Given the description of an element on the screen output the (x, y) to click on. 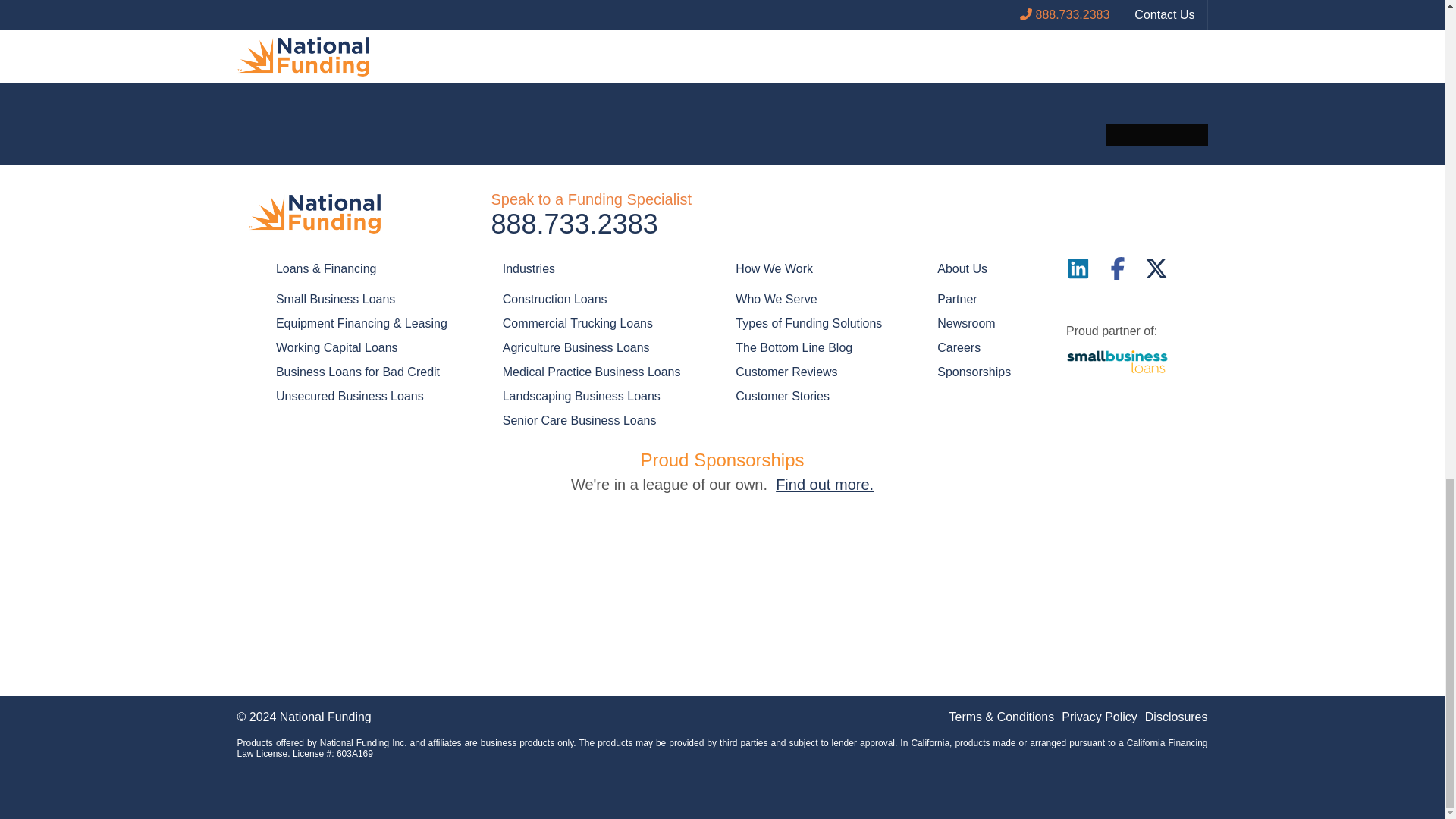
Business Loans for Bad Credit (357, 371)
Senior Care Business Loans (579, 420)
Newsroom (965, 323)
Industries (591, 269)
Careers (958, 347)
Agriculture Business Loans (575, 347)
Medical Practice Business Loans (591, 371)
Get Started (722, 13)
888.733.2383 (575, 223)
Commercial Trucking Loans (577, 323)
